Given the description of an element on the screen output the (x, y) to click on. 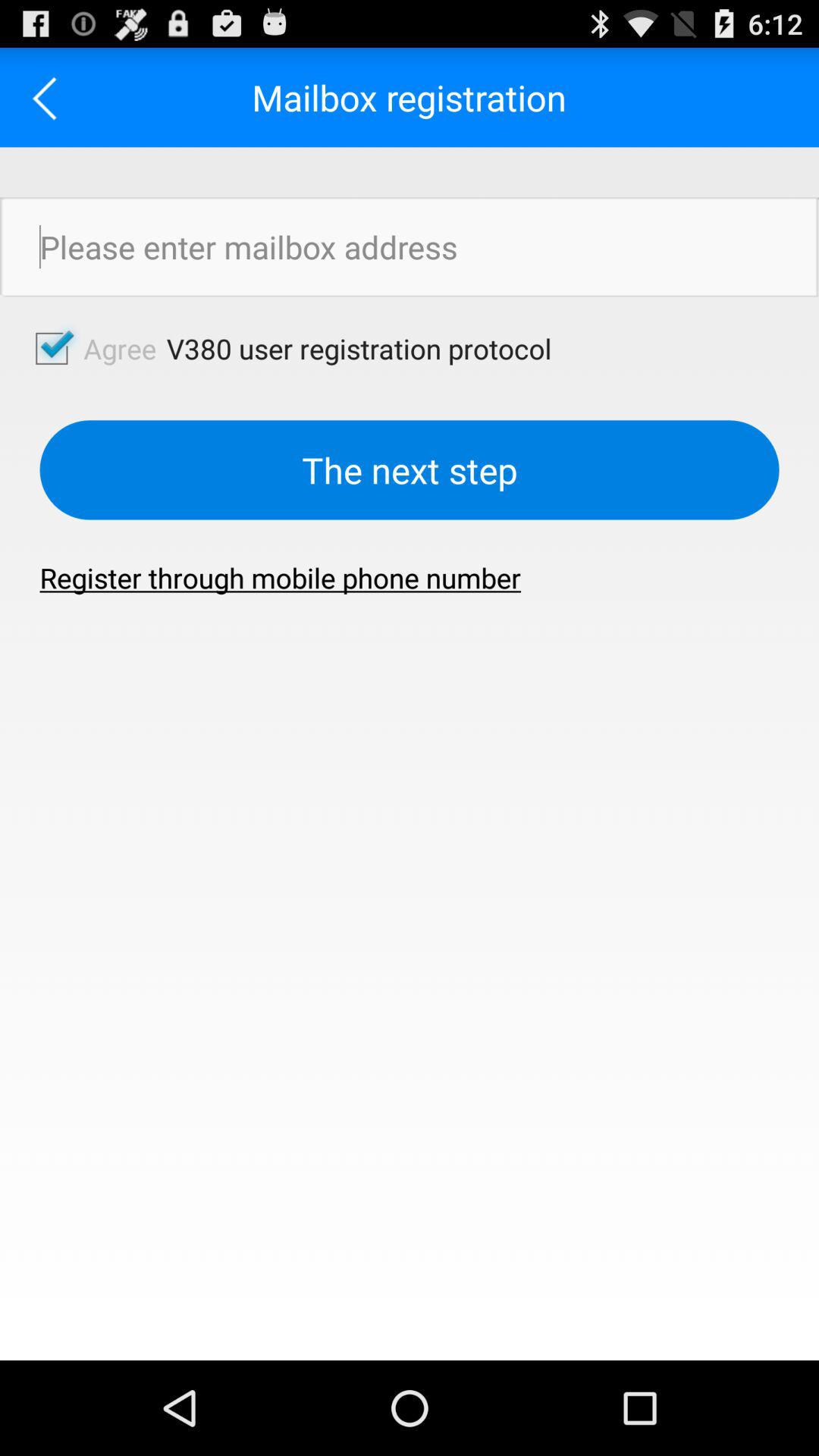
open button above the register through mobile icon (409, 469)
